Given the description of an element on the screen output the (x, y) to click on. 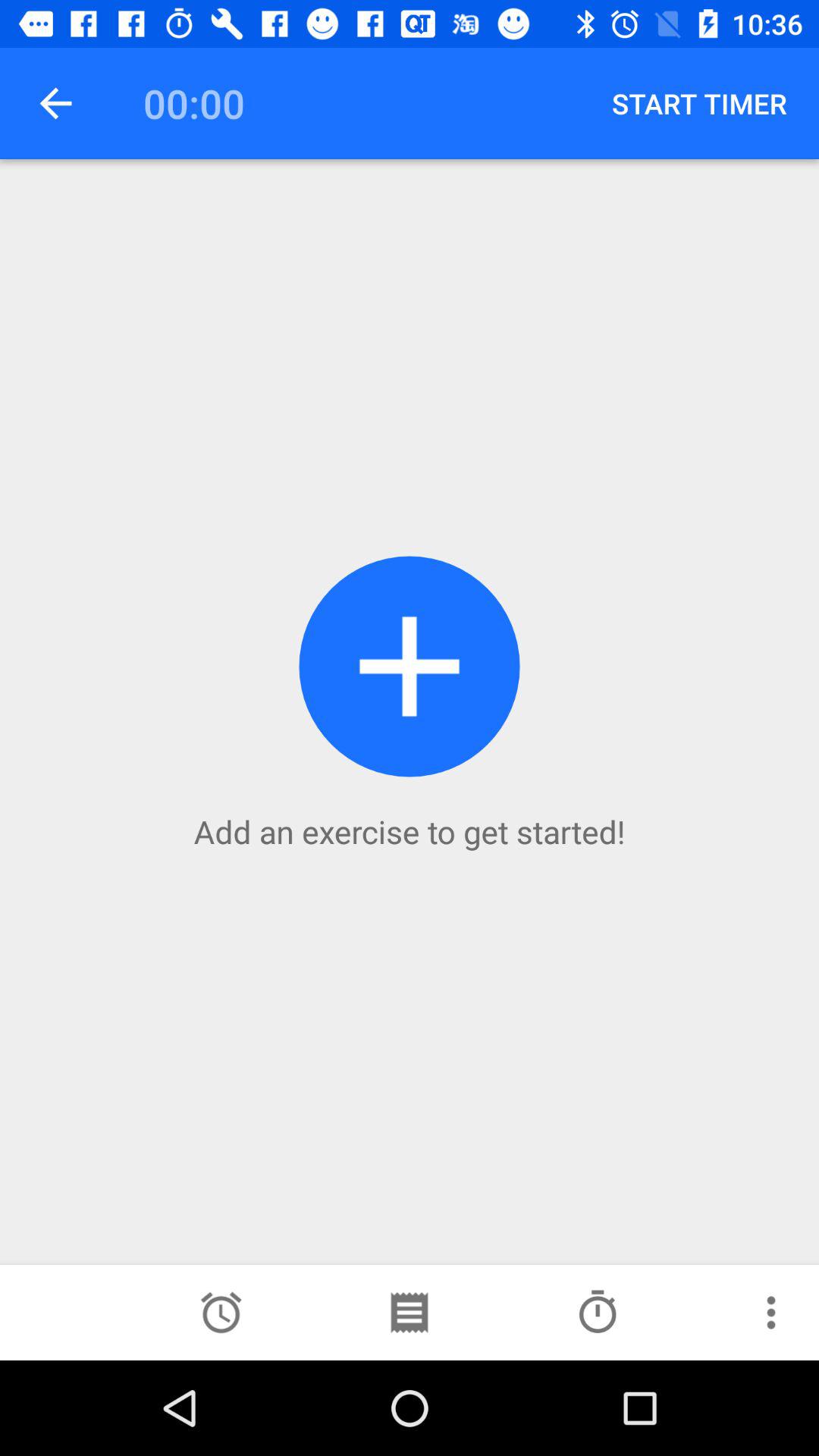
add a set (221, 1312)
